Given the description of an element on the screen output the (x, y) to click on. 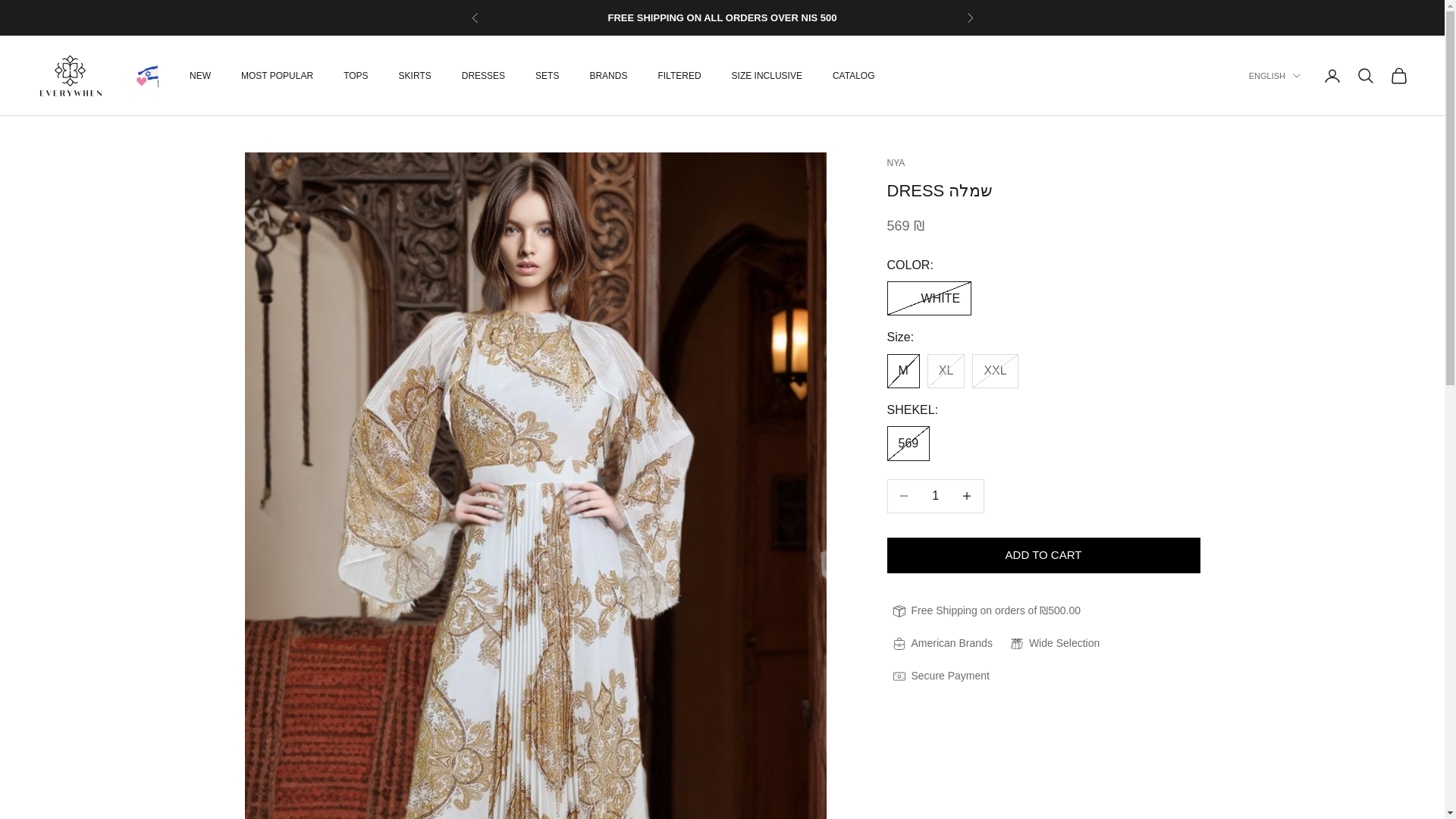
1 (935, 495)
Open search (1365, 75)
DRESSES (483, 75)
Open cart (1398, 75)
NEW (200, 75)
FILTERED (679, 75)
CATALOG (853, 75)
Open account page (1331, 75)
SETS (547, 75)
SIZE INCLUSIVE (767, 75)
